Given the description of an element on the screen output the (x, y) to click on. 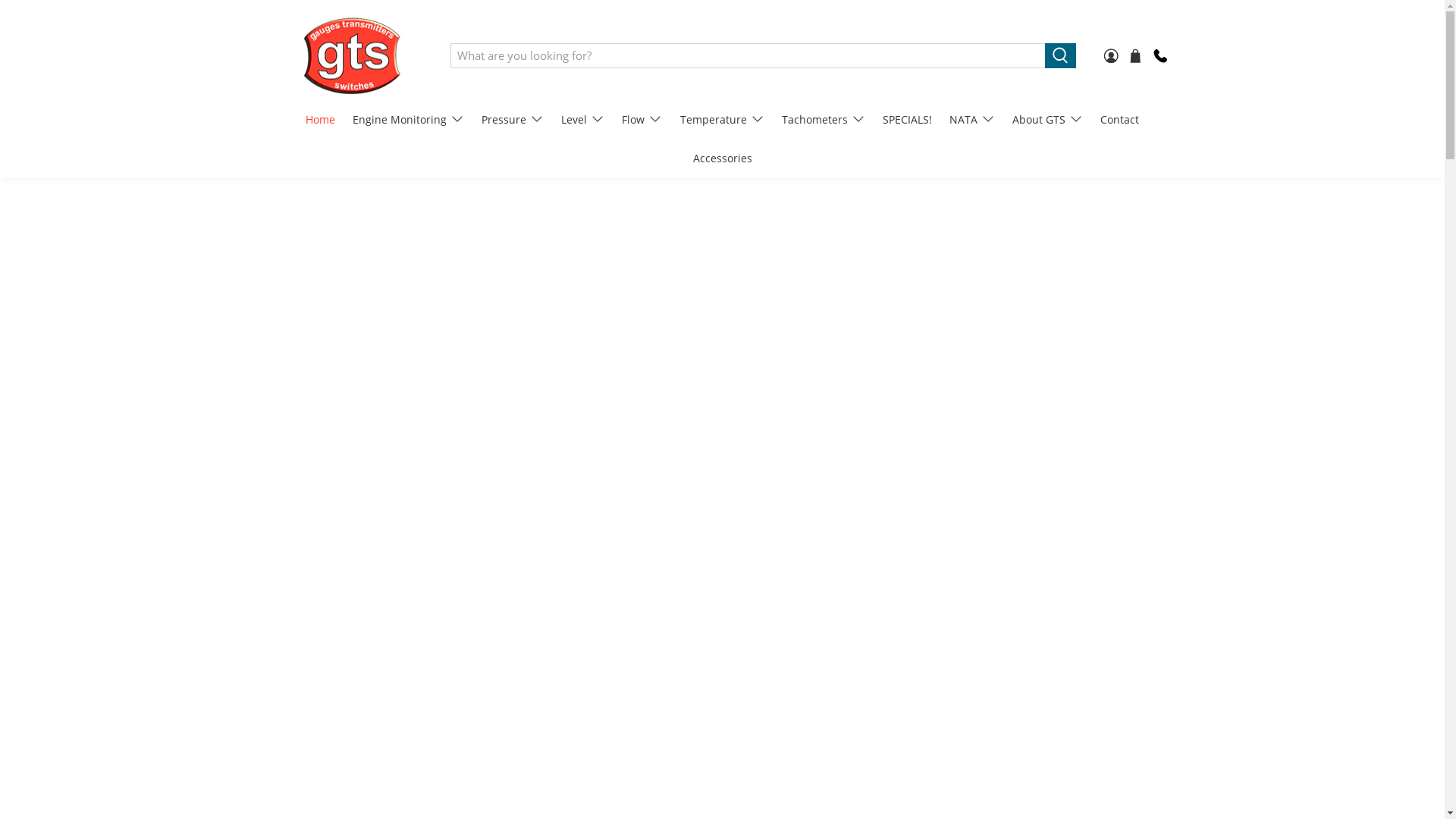
GTS Gauges Element type: hover (351, 55)
Contact Element type: text (1120, 119)
Home Element type: text (320, 119)
SPECIALS! Element type: text (907, 119)
Level Element type: text (582, 119)
Accessories Element type: text (722, 157)
Flow Element type: text (642, 119)
Engine Monitoring Element type: text (407, 119)
About GTS Element type: text (1048, 119)
Temperature Element type: text (721, 119)
Tachometers Element type: text (823, 119)
NATA Element type: text (971, 119)
Pressure Element type: text (512, 119)
